Given the description of an element on the screen output the (x, y) to click on. 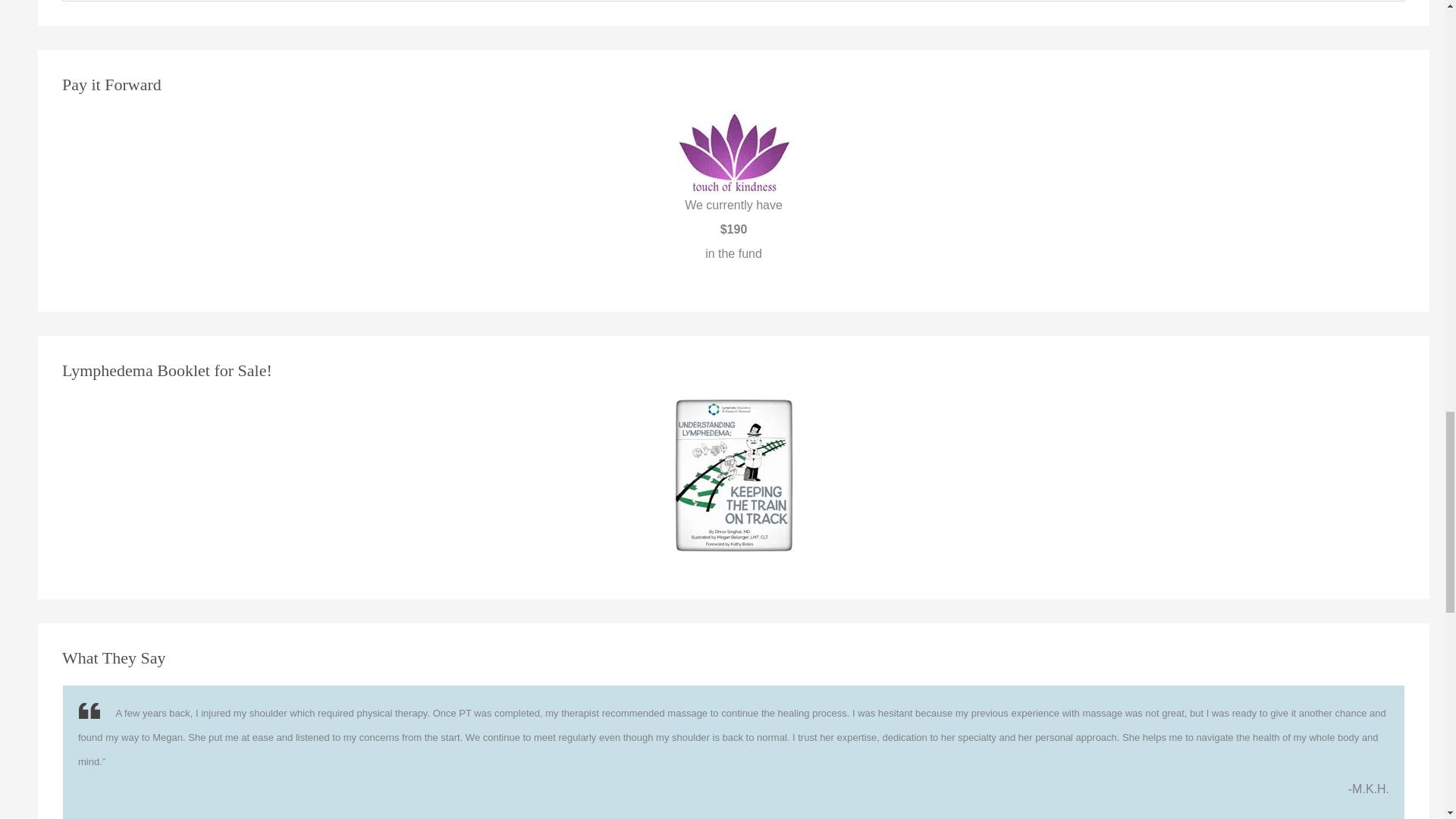
Search (1388, 5)
Search (1388, 5)
